Given the description of an element on the screen output the (x, y) to click on. 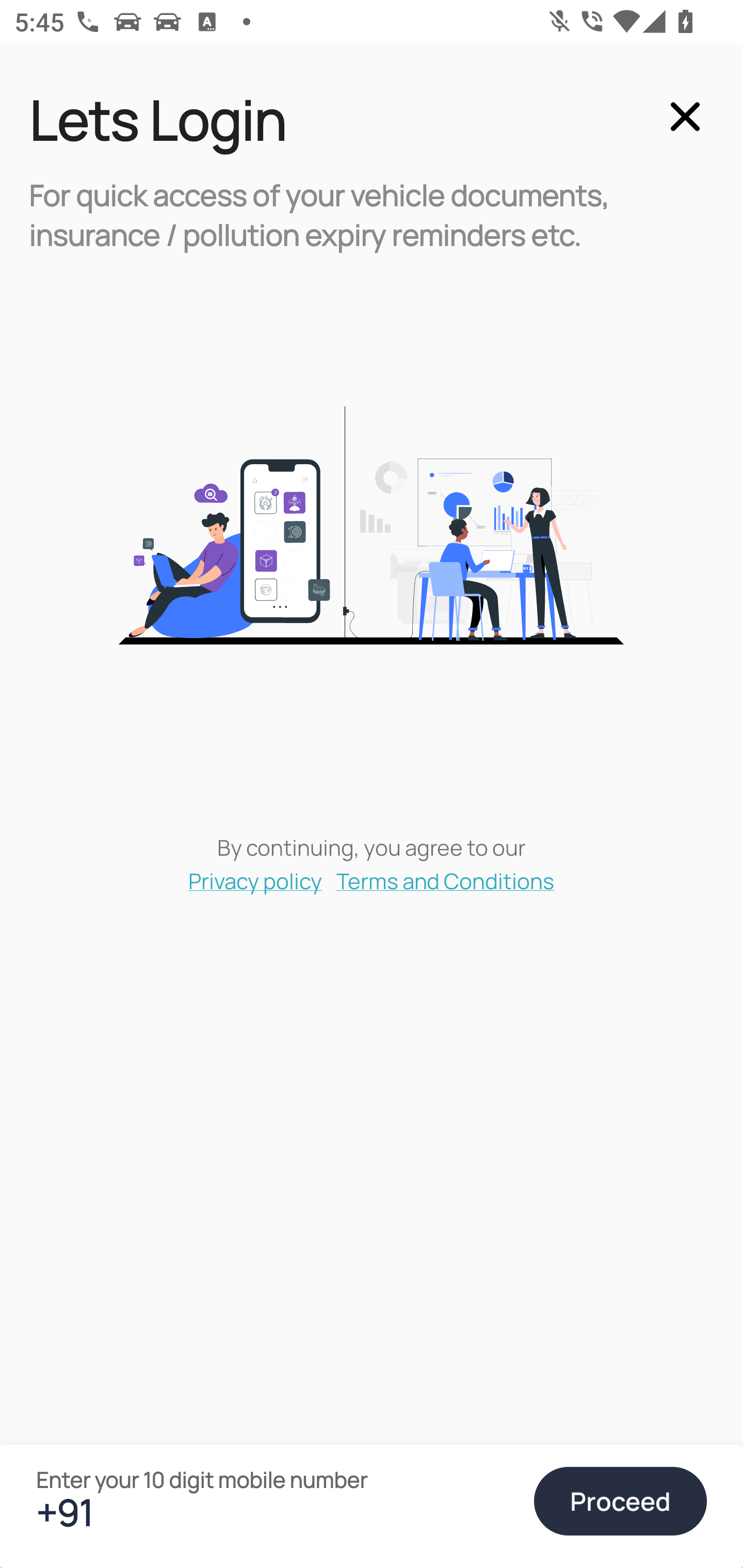
Privacy policy (254, 880)
Terms and Conditions (445, 880)
Proceed (620, 1501)
Enter your 10 digit mobile number (275, 1512)
